Given the description of an element on the screen output the (x, y) to click on. 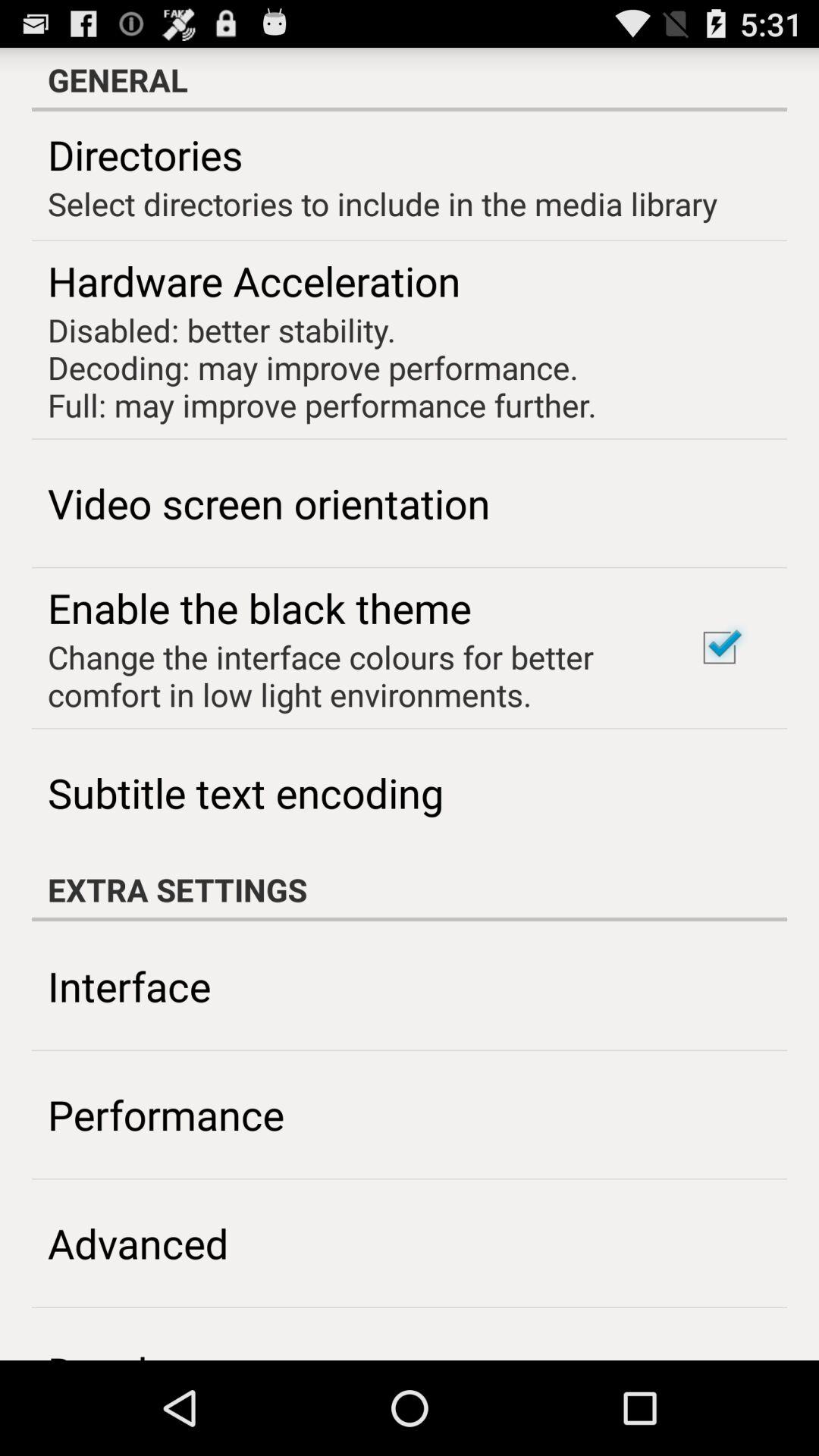
open item above the extra settings (245, 792)
